Given the description of an element on the screen output the (x, y) to click on. 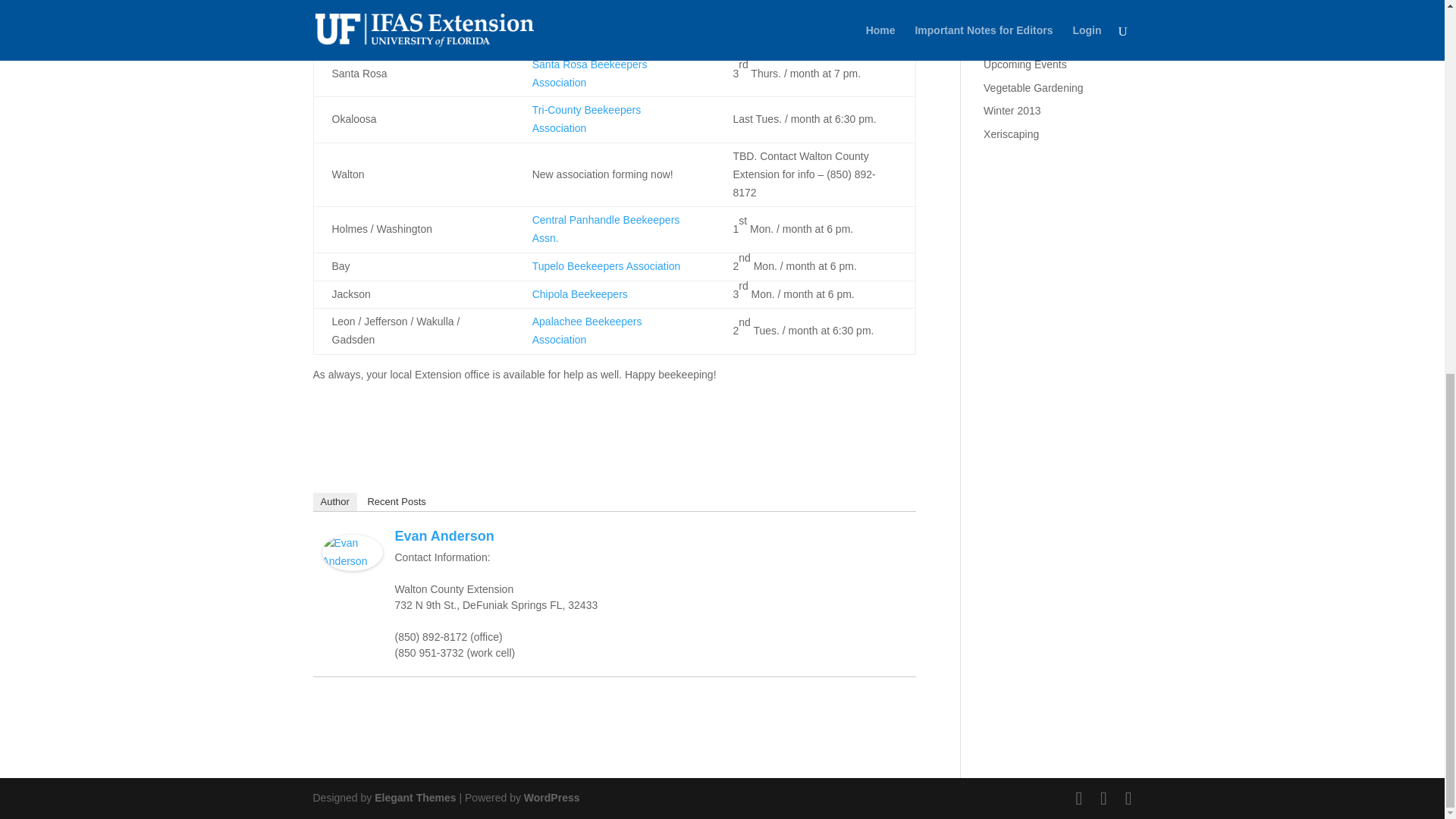
Recent Posts (395, 502)
Evan Anderson (443, 535)
Premium WordPress Themes (414, 797)
Apalachee Beekeepers Association (587, 330)
Chipola Beekeepers (579, 294)
Tupelo Beekeepers Association (606, 265)
Escarosa Beekeepers Association (612, 8)
Author (334, 502)
Evan Anderson (351, 561)
Tri-County Beekeepers Association (586, 119)
Central Panhandle Beekeepers Assn. (605, 228)
Santa Rosa Beekeepers Association (589, 73)
North Escambia Bee Association (608, 36)
